Given the description of an element on the screen output the (x, y) to click on. 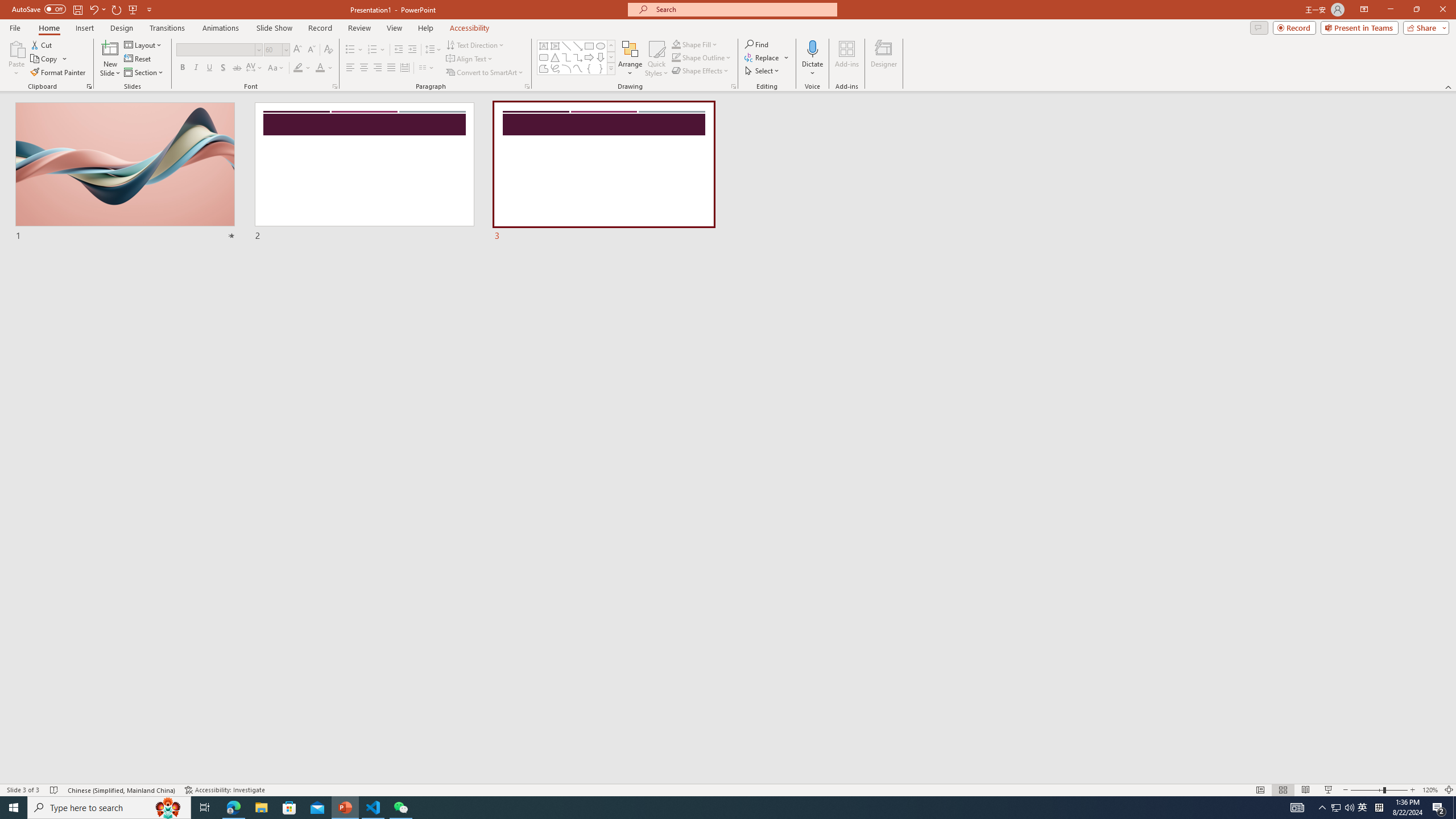
Zoom 120% (1430, 790)
